Given the description of an element on the screen output the (x, y) to click on. 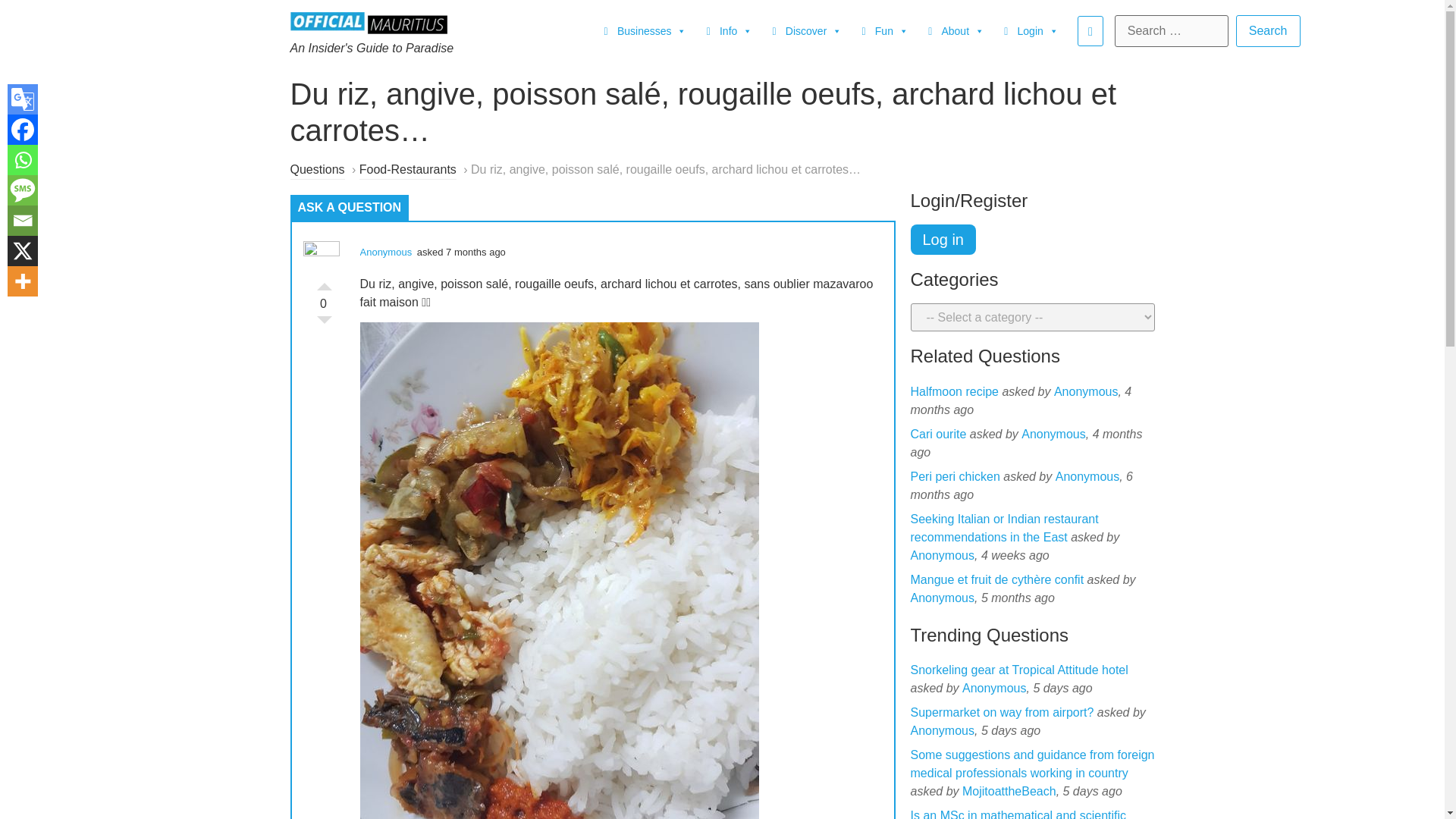
Posts by Anonymous (1054, 433)
Google Translate (22, 99)
Posts by Anonymous (942, 554)
Search (1268, 30)
Posts by Anonymous (1087, 476)
Whatsapp (22, 159)
SMS (22, 190)
Email (22, 220)
Posts by Anonymous (1086, 391)
X (22, 250)
Posts by Anonymous (942, 597)
Info (727, 30)
More (22, 281)
Search (1268, 30)
Facebook (22, 129)
